Given the description of an element on the screen output the (x, y) to click on. 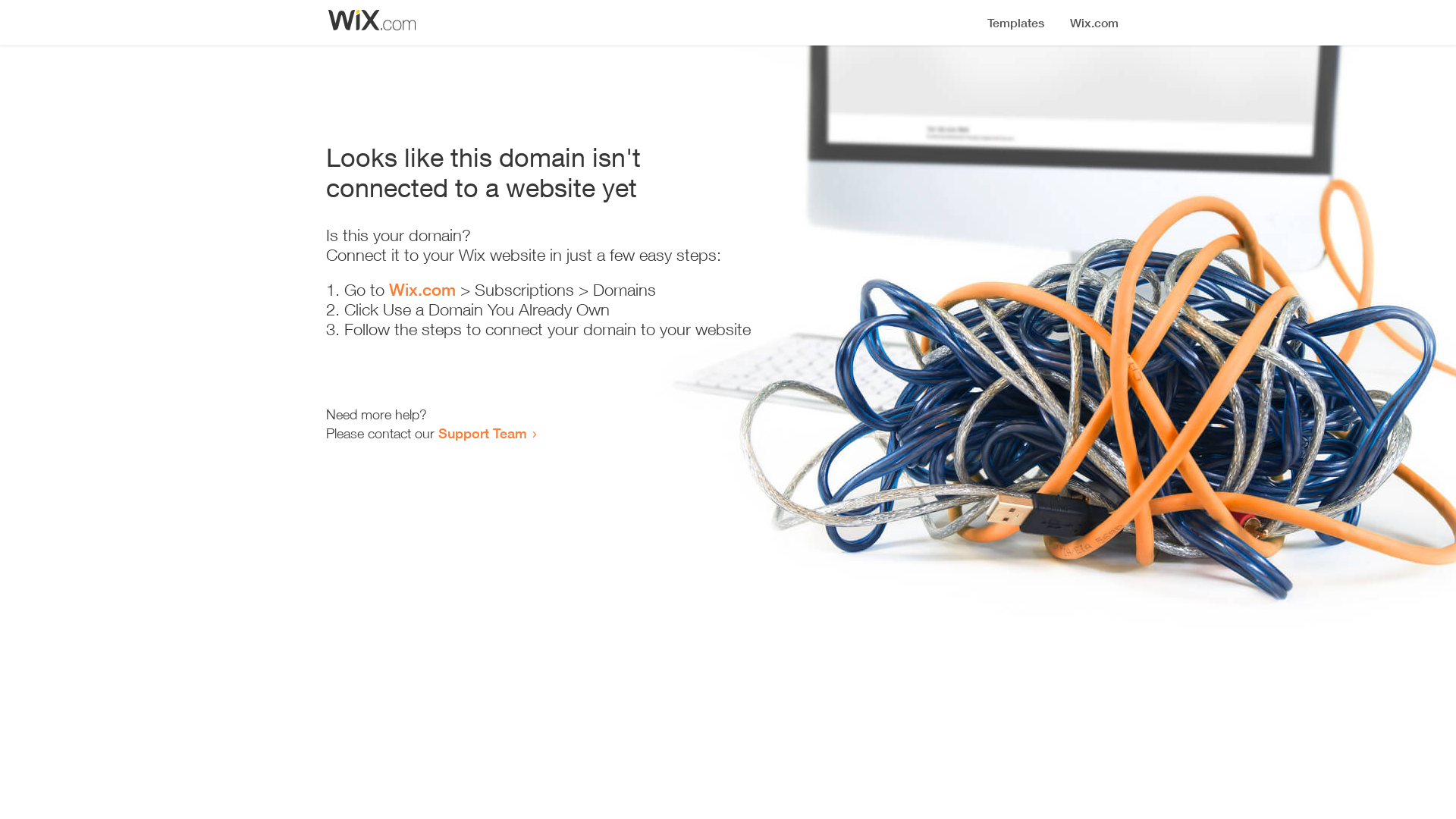
Support Team Element type: text (482, 432)
Wix.com Element type: text (422, 289)
